Given the description of an element on the screen output the (x, y) to click on. 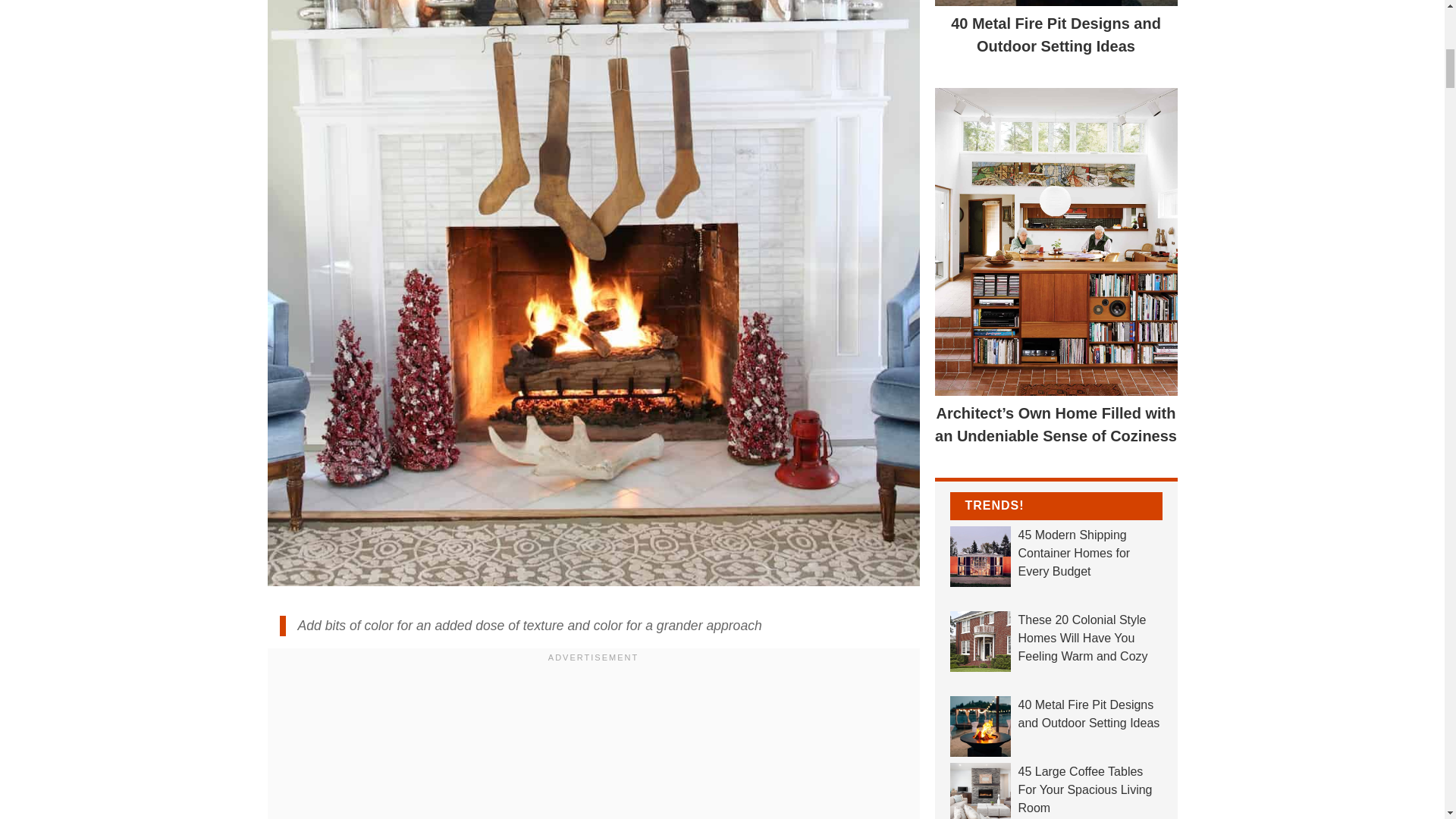
40 Metal Fire Pit Designs and Outdoor Setting Ideas (1055, 714)
45 Modern Shipping Container Homes for Every Budget (1055, 553)
